Given the description of an element on the screen output the (x, y) to click on. 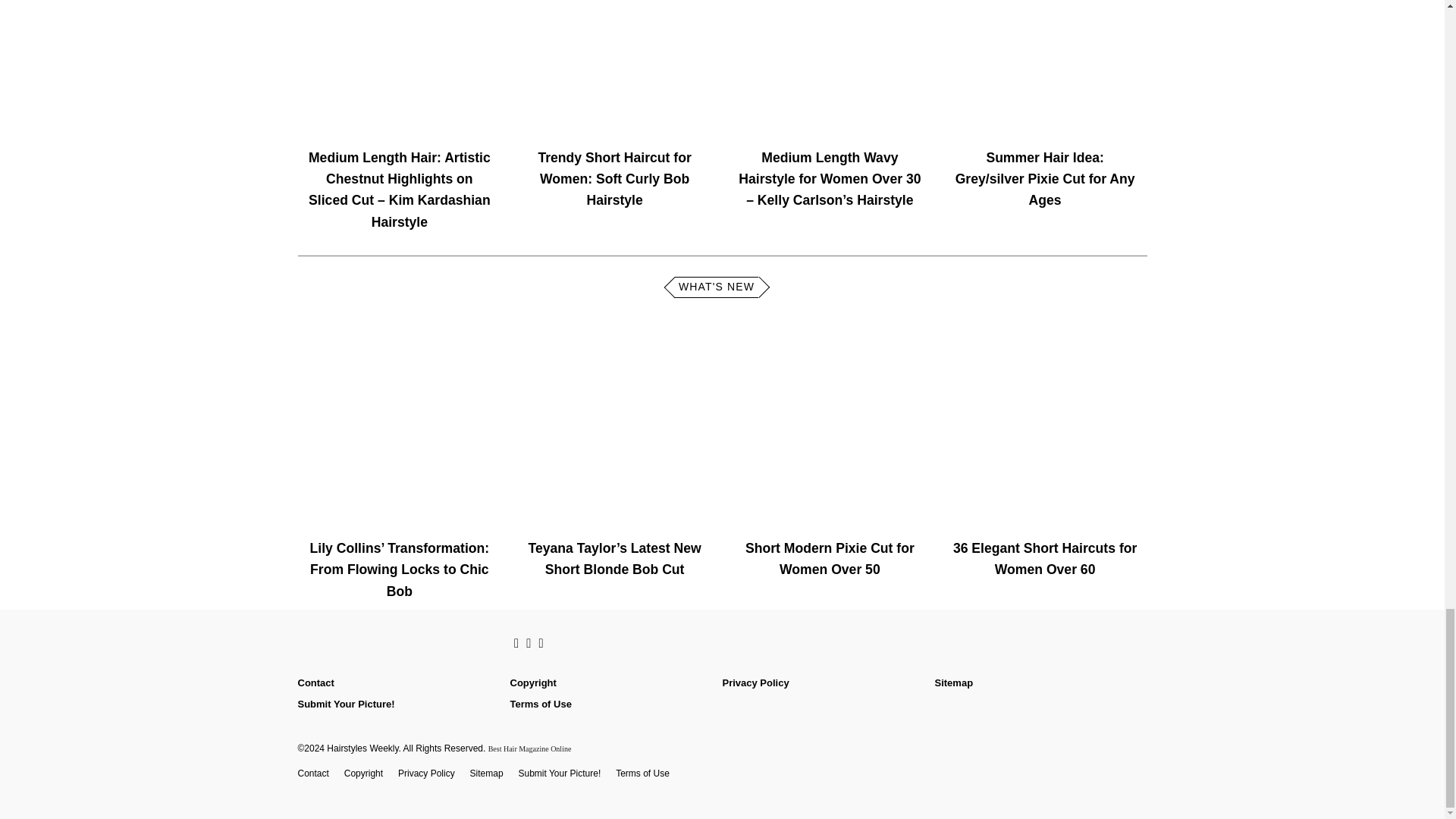
HAIRSTYLES WEEKLY (396, 644)
